Given the description of an element on the screen output the (x, y) to click on. 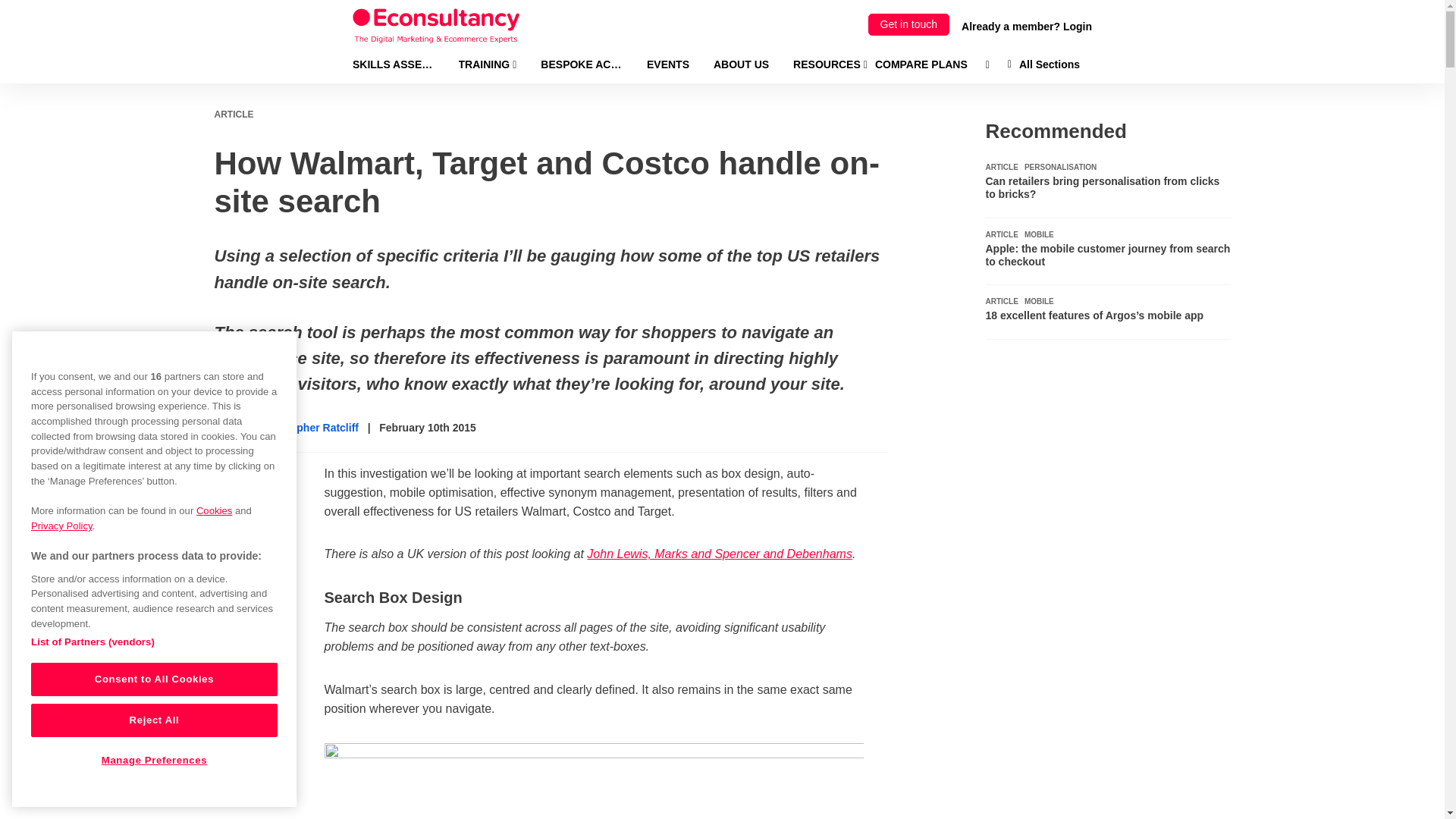
COMPARE PLANS (921, 64)
Posts by Christopher Ratcliff (308, 427)
BESPOKE ACADEMIES (581, 64)
Get in touch (908, 24)
TRAINING (487, 64)
EVENTS (667, 64)
Already a member? Login (1026, 26)
ABOUT US (740, 64)
All Sections (1043, 64)
RESOURCES (830, 64)
SKILLS ASSESSMENT (392, 64)
